Given the description of an element on the screen output the (x, y) to click on. 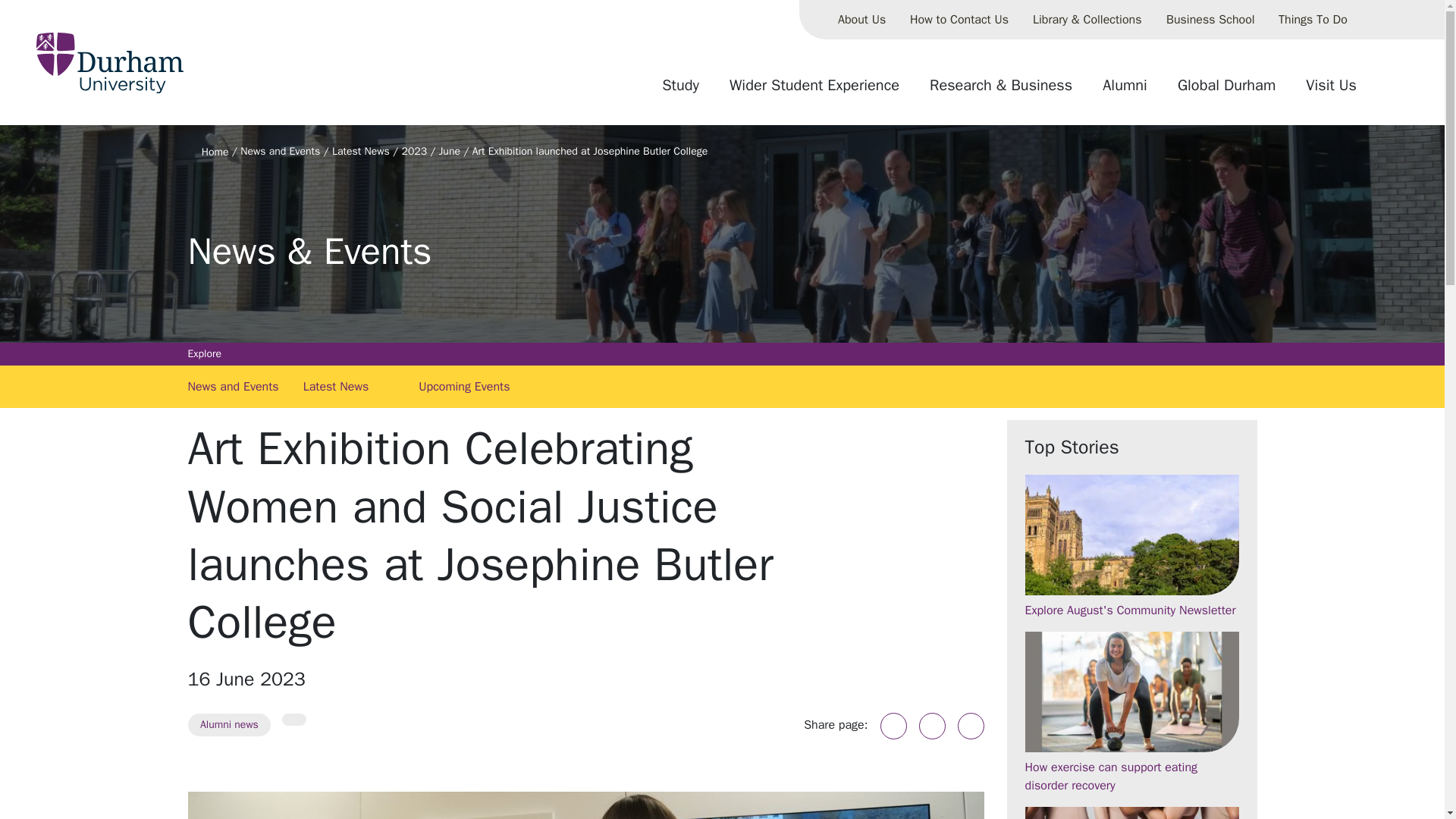
Study (680, 91)
Wider Student Experience (814, 91)
Global Durham (1226, 91)
Alumni (1124, 91)
Things To Do (1312, 19)
About Us (861, 19)
Visit Us (1331, 91)
How to Contact Us (959, 19)
Business School (1210, 19)
